Given the description of an element on the screen output the (x, y) to click on. 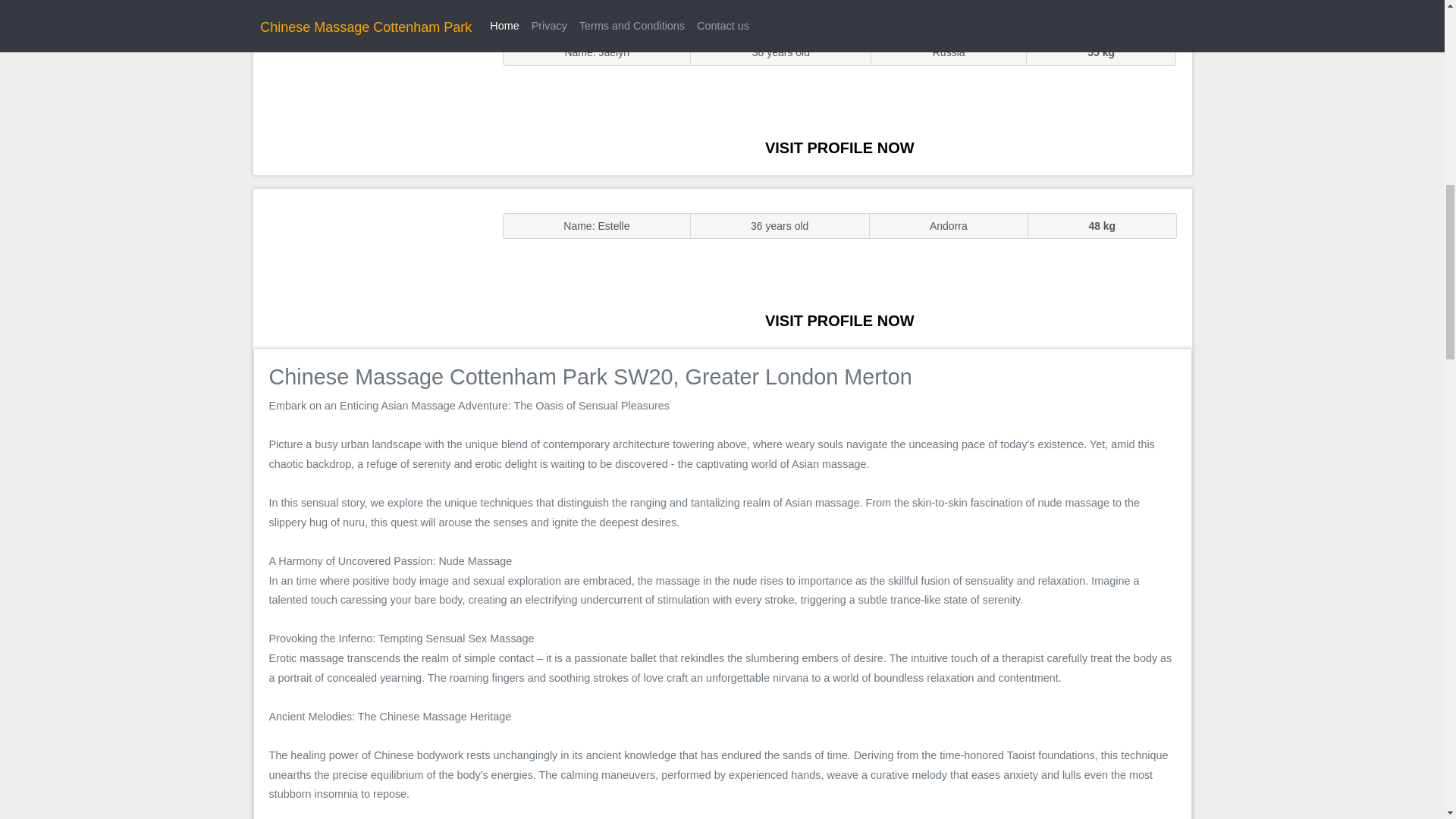
VISIT PROFILE NOW (839, 147)
Massage (370, 267)
Sluts (370, 94)
VISIT PROFILE NOW (839, 320)
